Given the description of an element on the screen output the (x, y) to click on. 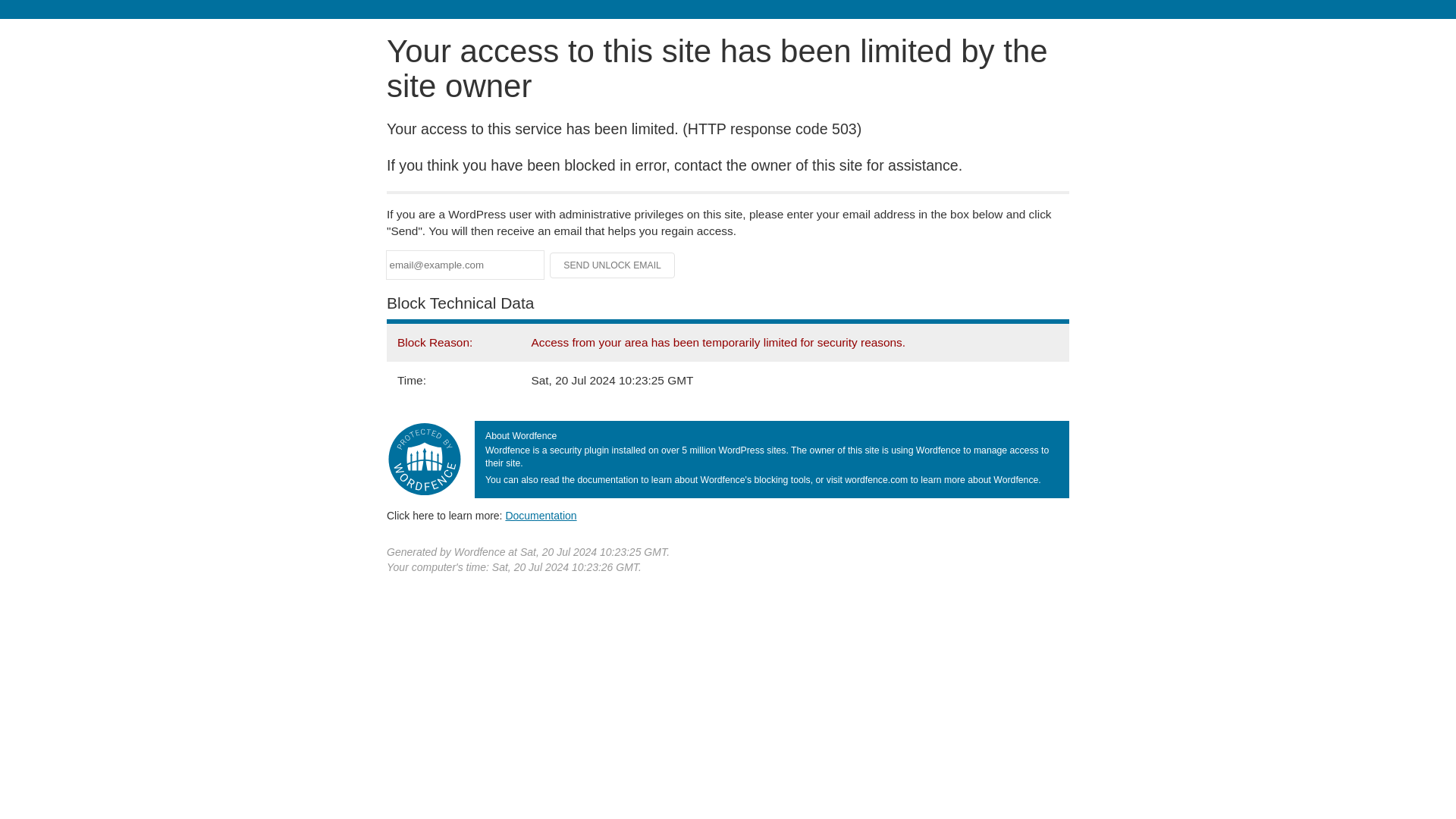
Send Unlock Email (612, 265)
Documentation (540, 515)
Send Unlock Email (612, 265)
